Given the description of an element on the screen output the (x, y) to click on. 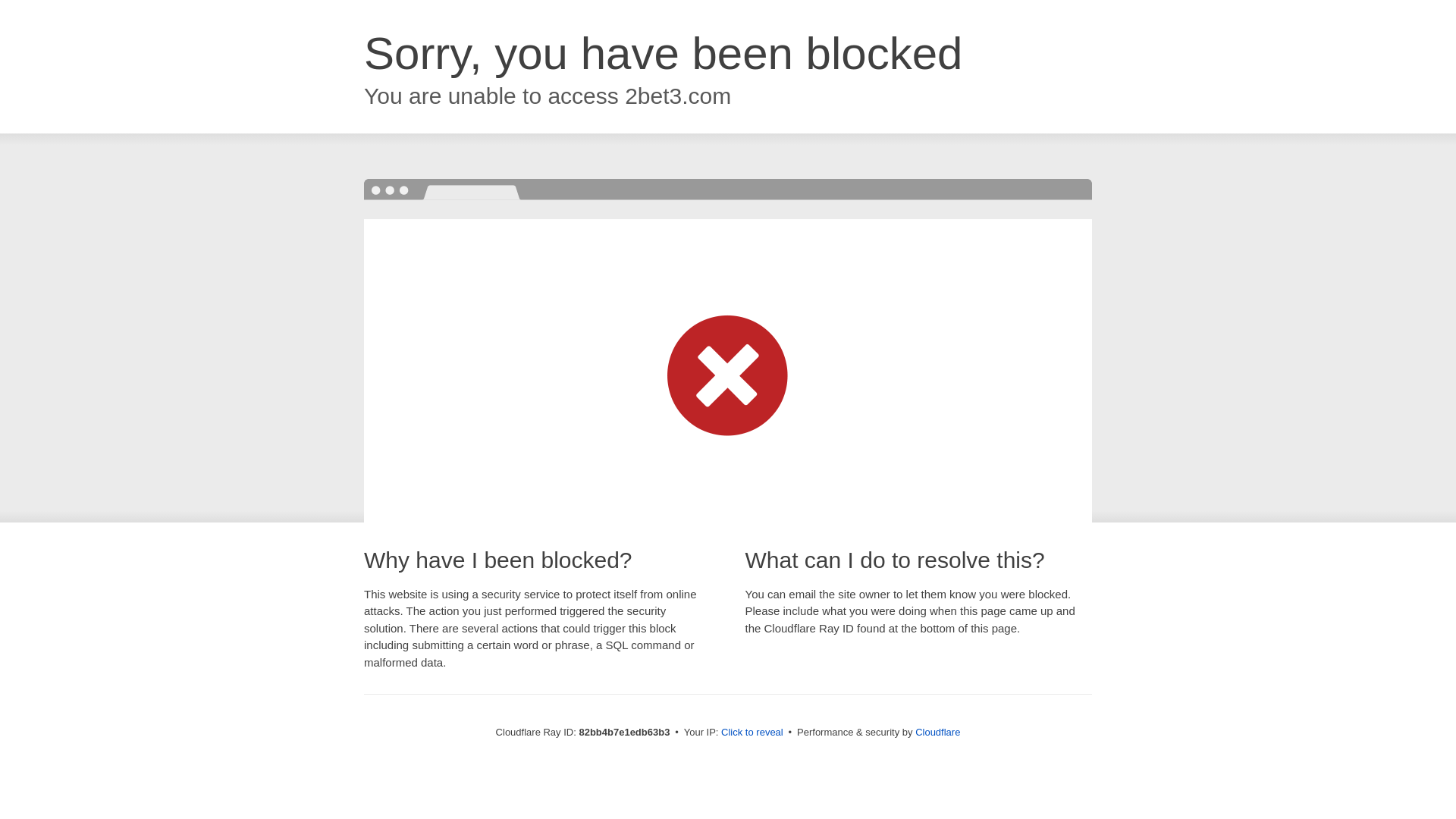
Click to reveal Element type: text (752, 732)
Cloudflare Element type: text (937, 731)
